Given the description of an element on the screen output the (x, y) to click on. 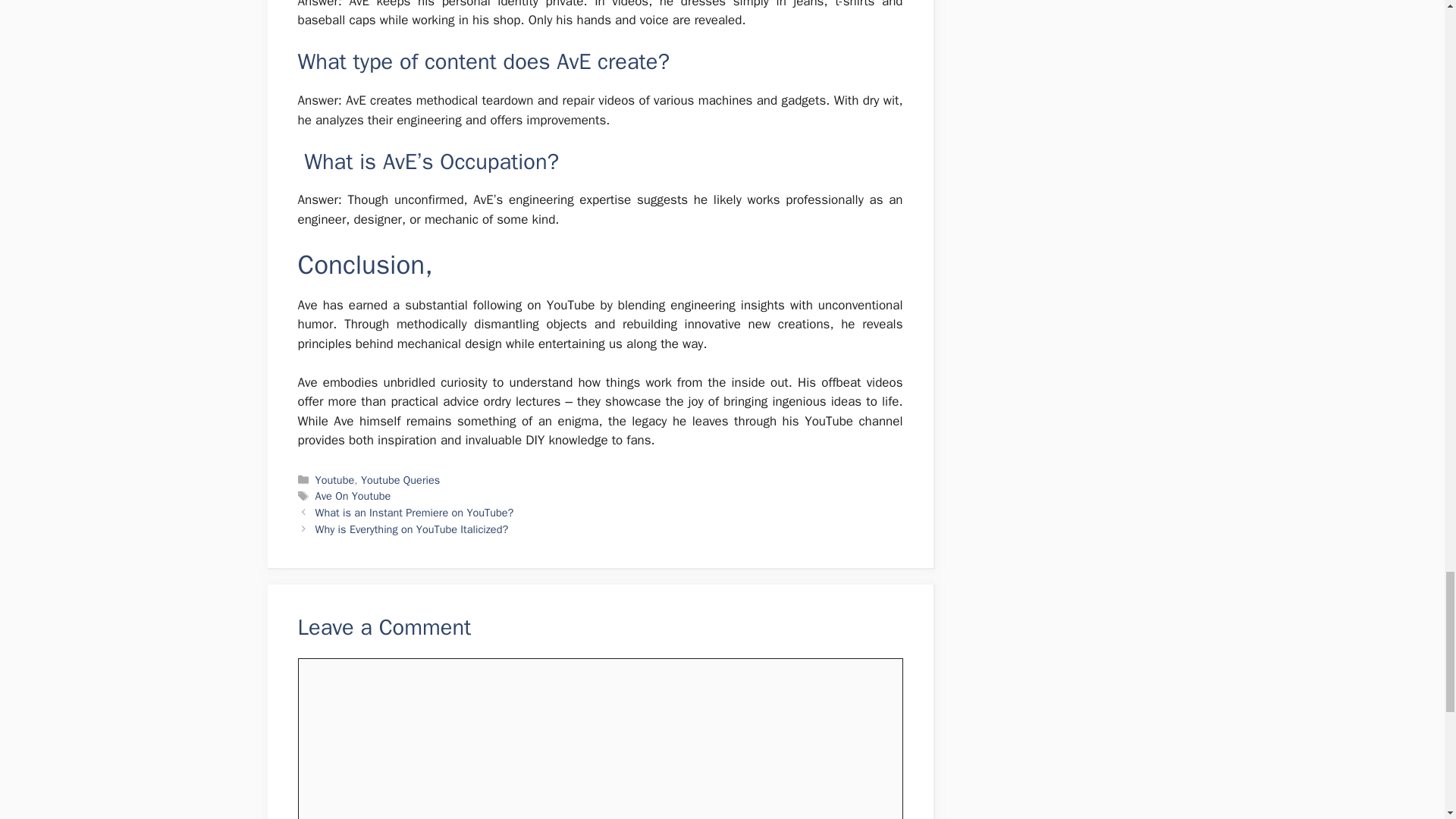
What is an Instant Premiere on YouTube? (414, 512)
Youtube Queries (400, 479)
Why is Everything on YouTube Italicized? (411, 529)
Ave On Youtube (353, 495)
Youtube (335, 479)
